Given the description of an element on the screen output the (x, y) to click on. 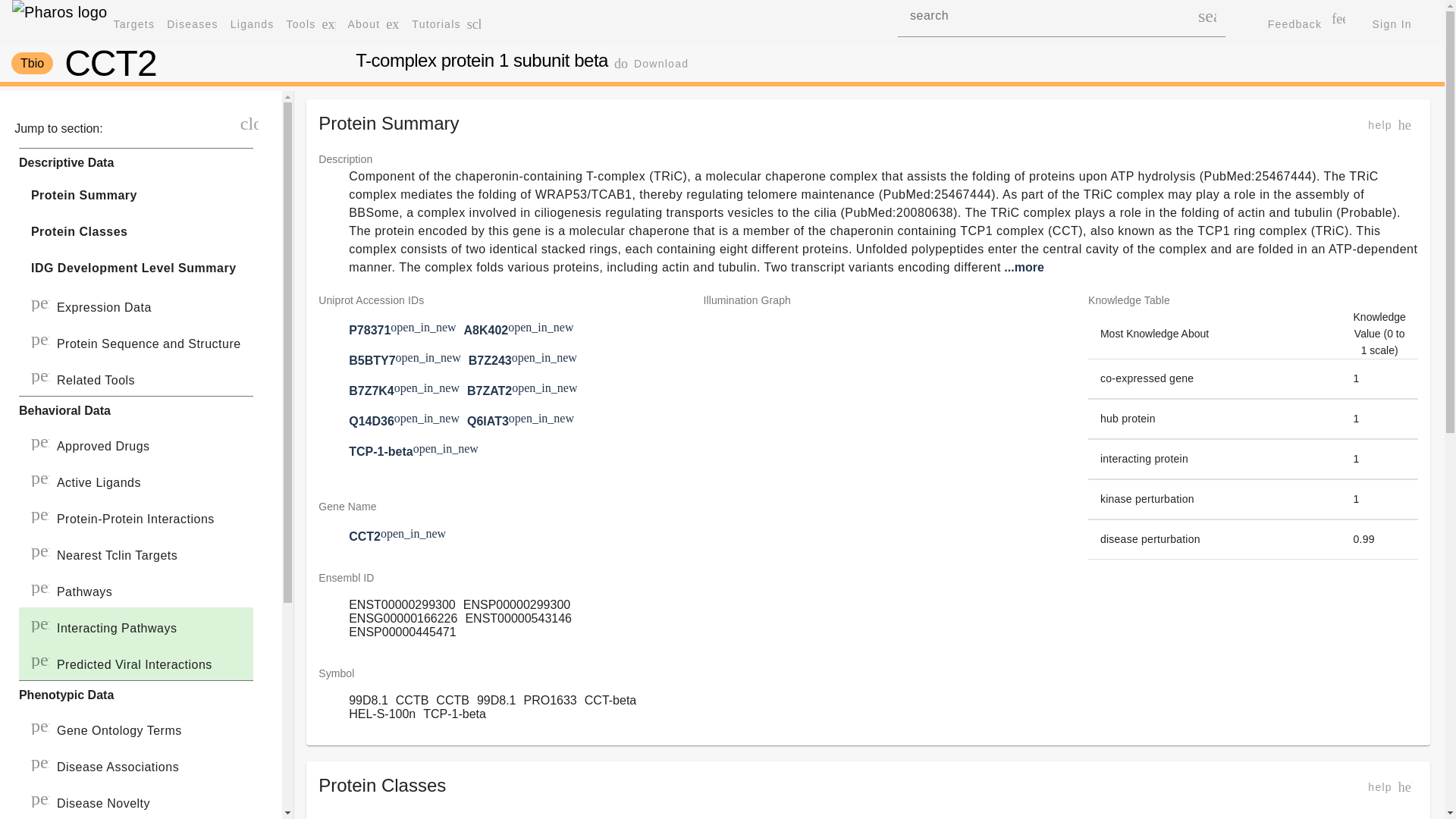
pendingProtein Sequence and Structure (135, 340)
pendingProtein-Protein Interactions (135, 515)
Targets (651, 62)
pendingGene Ontology Terms (134, 23)
IDG Development Level Summary (135, 728)
pendingDisease Associations (135, 268)
Diseases (135, 764)
pendingRelated Tools (192, 23)
pendingApproved Drugs (135, 377)
